Given the description of an element on the screen output the (x, y) to click on. 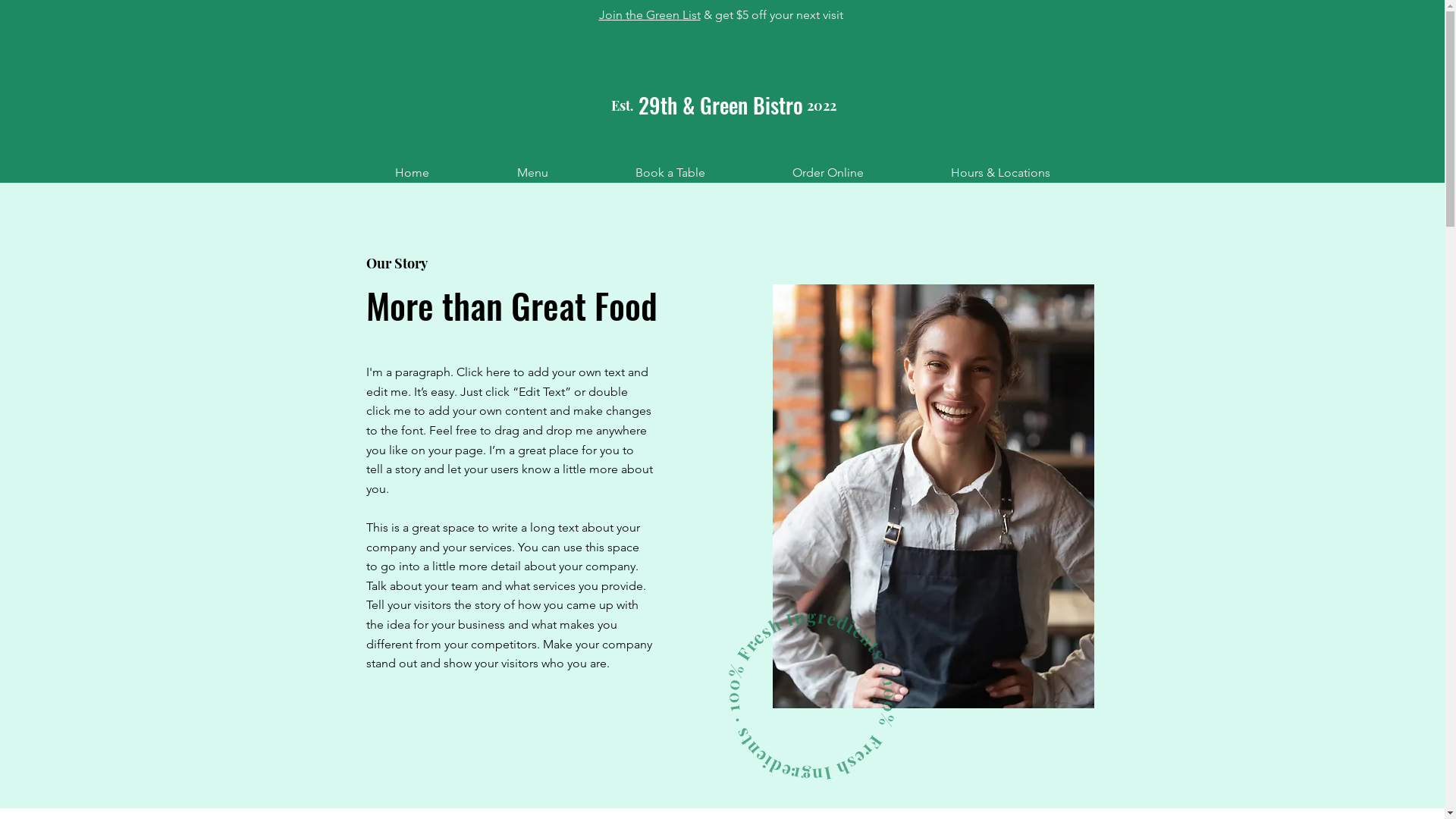
Join the Green List Element type: text (649, 14)
29th & Green Bistro Element type: text (720, 104)
Hours & Locations Element type: text (999, 172)
Menu Element type: text (532, 172)
Home Element type: text (411, 172)
Order Online Element type: text (828, 172)
Book a Table Element type: text (669, 172)
